Given the description of an element on the screen output the (x, y) to click on. 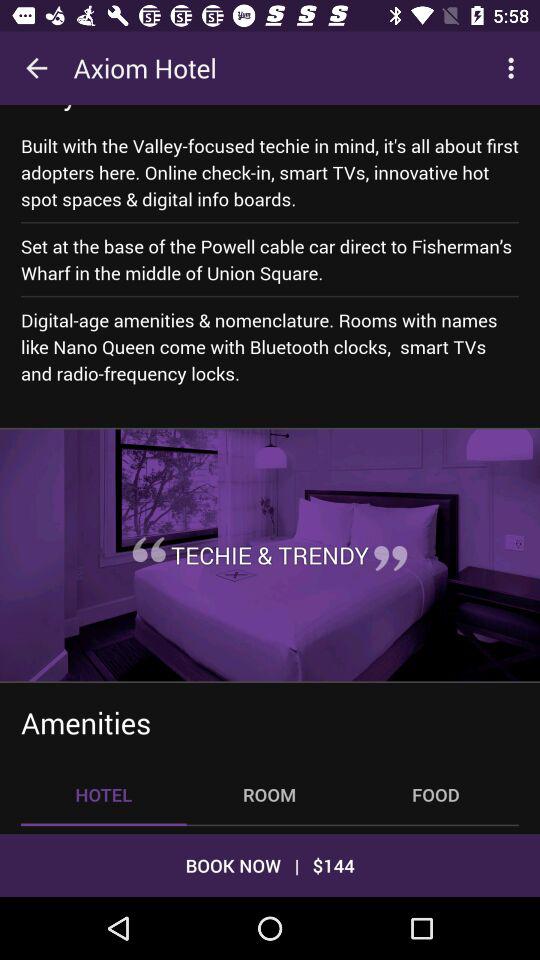
turn off the item above built with the icon (115, 108)
